Given the description of an element on the screen output the (x, y) to click on. 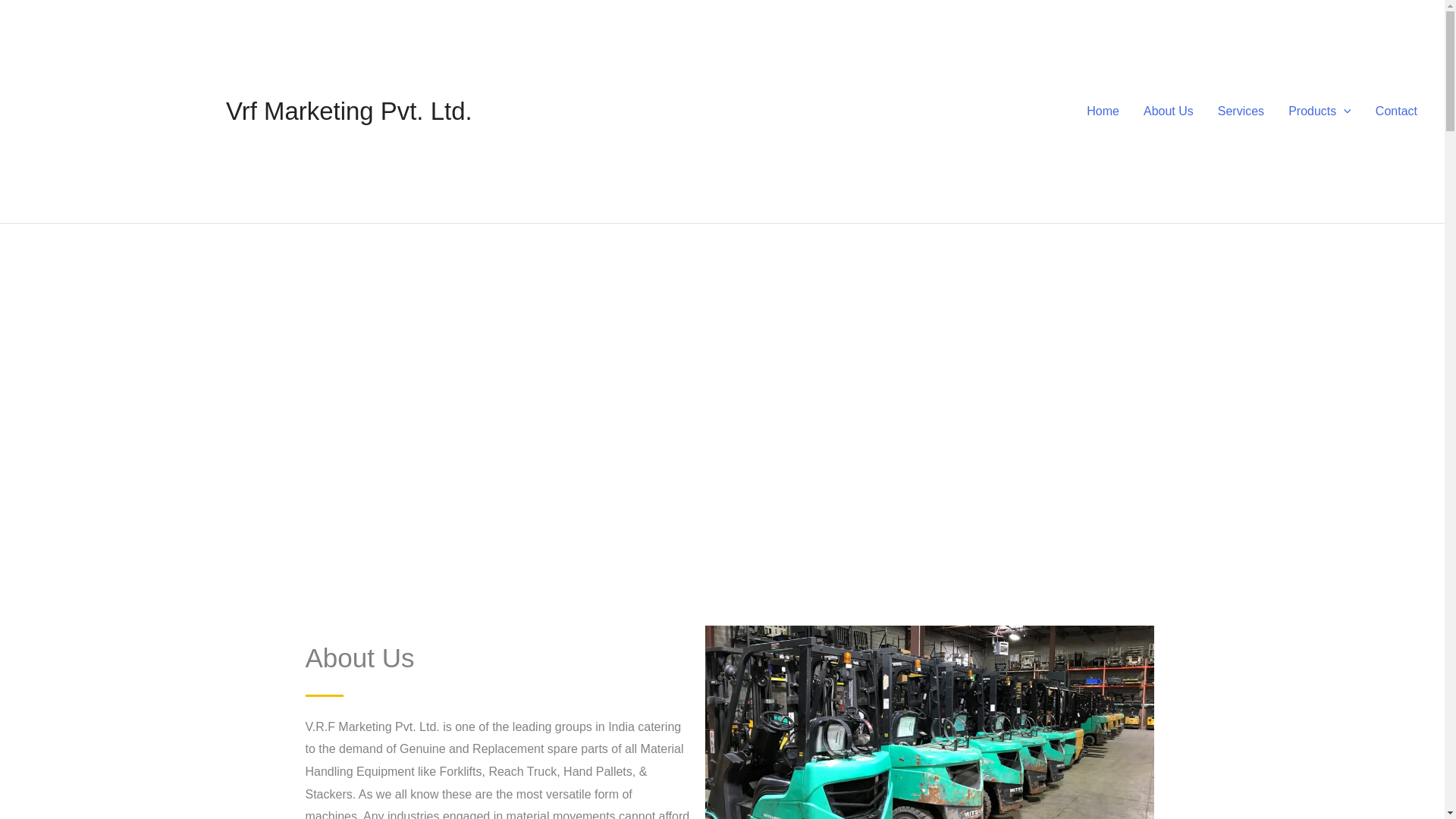
About Us (1168, 111)
Home (1102, 111)
Contact (1395, 111)
Vrf Marketing Pvt. Ltd. (348, 111)
Products (1319, 111)
Services (1240, 111)
